Given the description of an element on the screen output the (x, y) to click on. 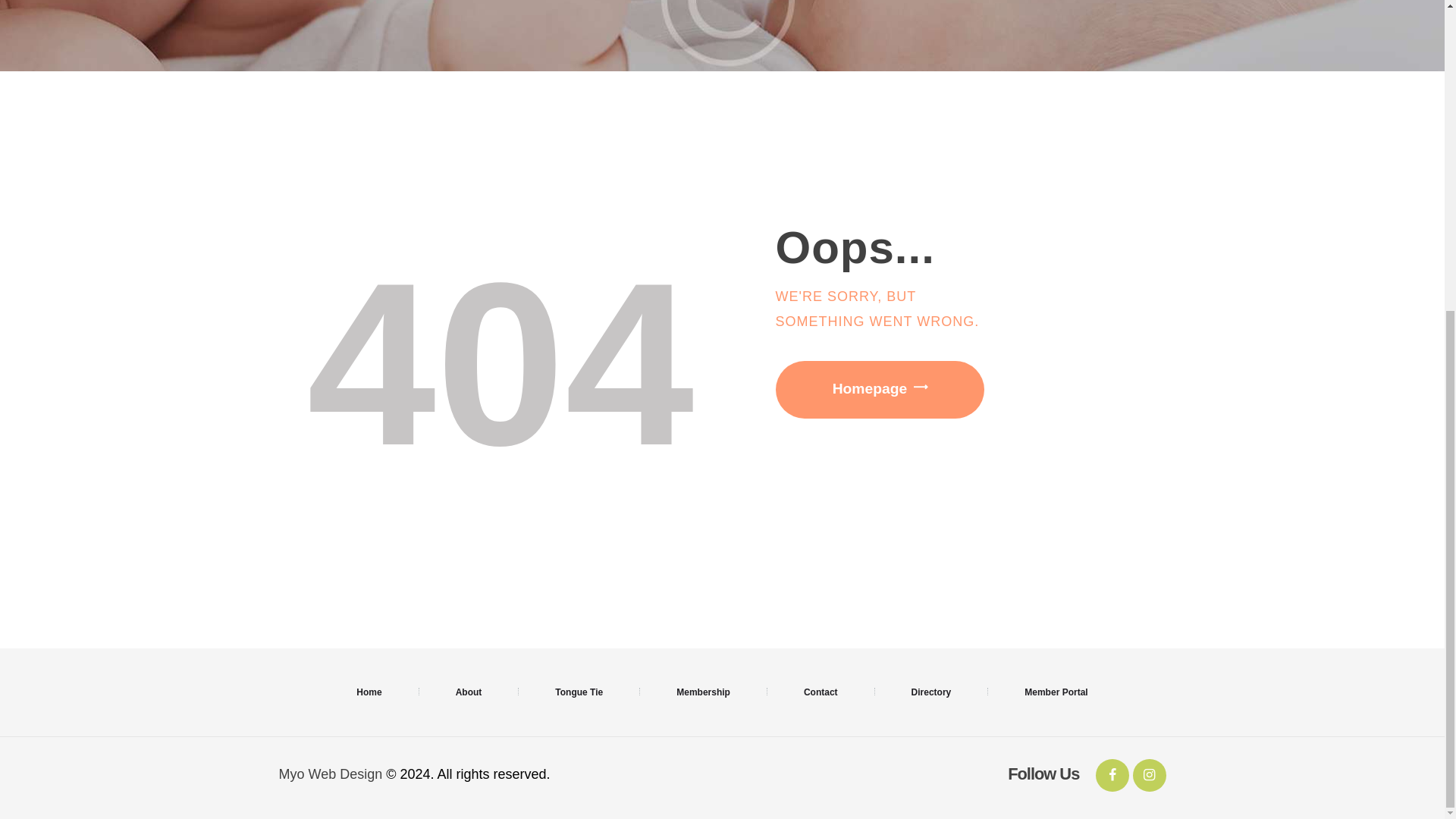
Directory (931, 692)
Homepage (879, 389)
Membership (702, 692)
Myo Web Design (330, 774)
Member Portal (1055, 692)
About (469, 692)
Home (368, 692)
Contact (820, 692)
Tongue Tie (578, 692)
